Given the description of an element on the screen output the (x, y) to click on. 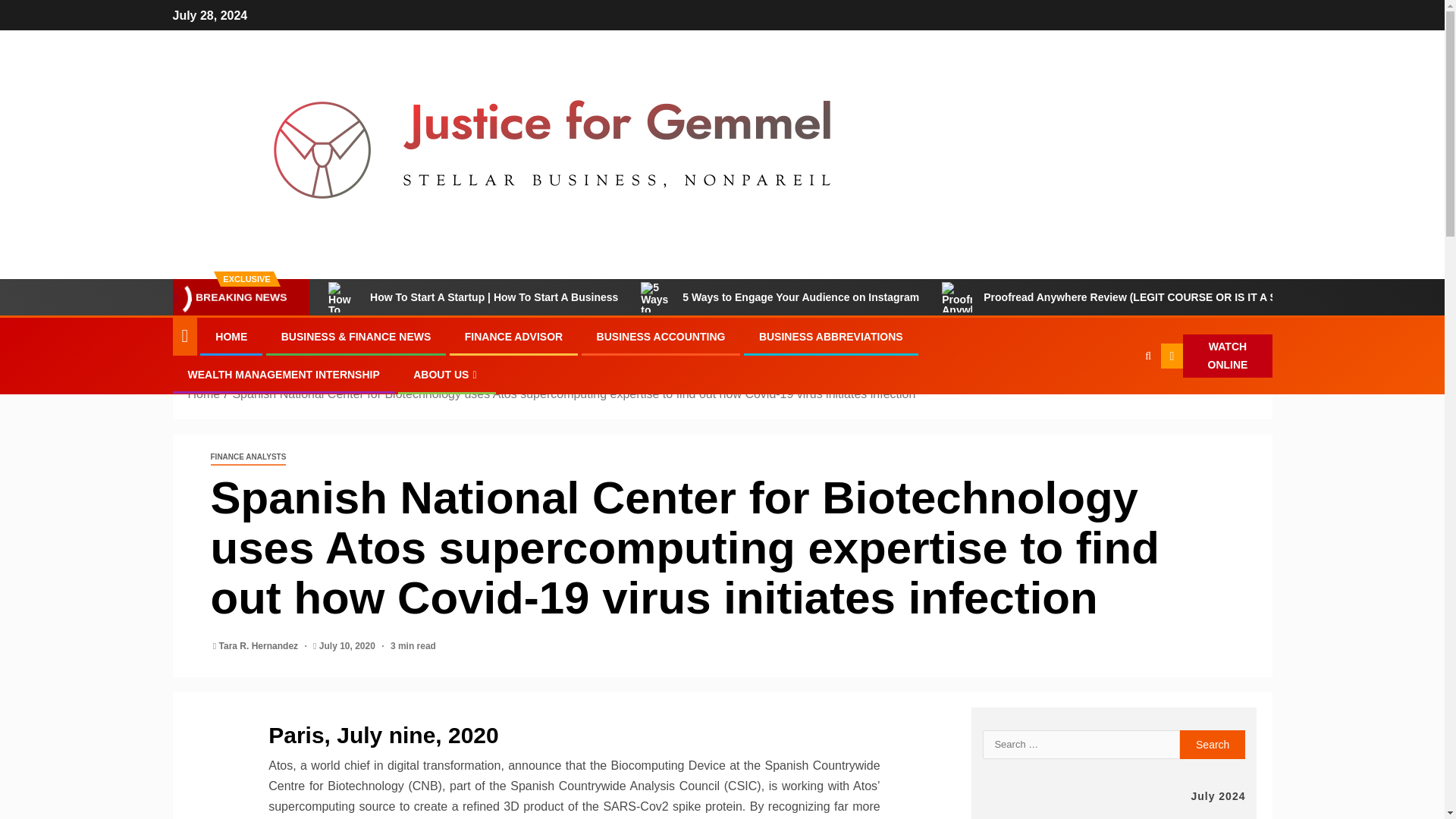
Monday (1002, 815)
Tuesday (1039, 815)
Sunday (1226, 815)
FINANCE ANALYSTS (248, 457)
Search (1212, 744)
Tara R. Hernandez (260, 645)
5 Ways to Engage Your Audience on Instagram (779, 296)
Friday (1151, 815)
Search (1117, 402)
Search (1148, 356)
BUSINESS ACCOUNTING (660, 336)
Wednesday (1077, 815)
5 Ways to Engage Your Audience on Instagram (655, 324)
Saturday (1188, 815)
BUSINESS ABBREVIATIONS (830, 336)
